Given the description of an element on the screen output the (x, y) to click on. 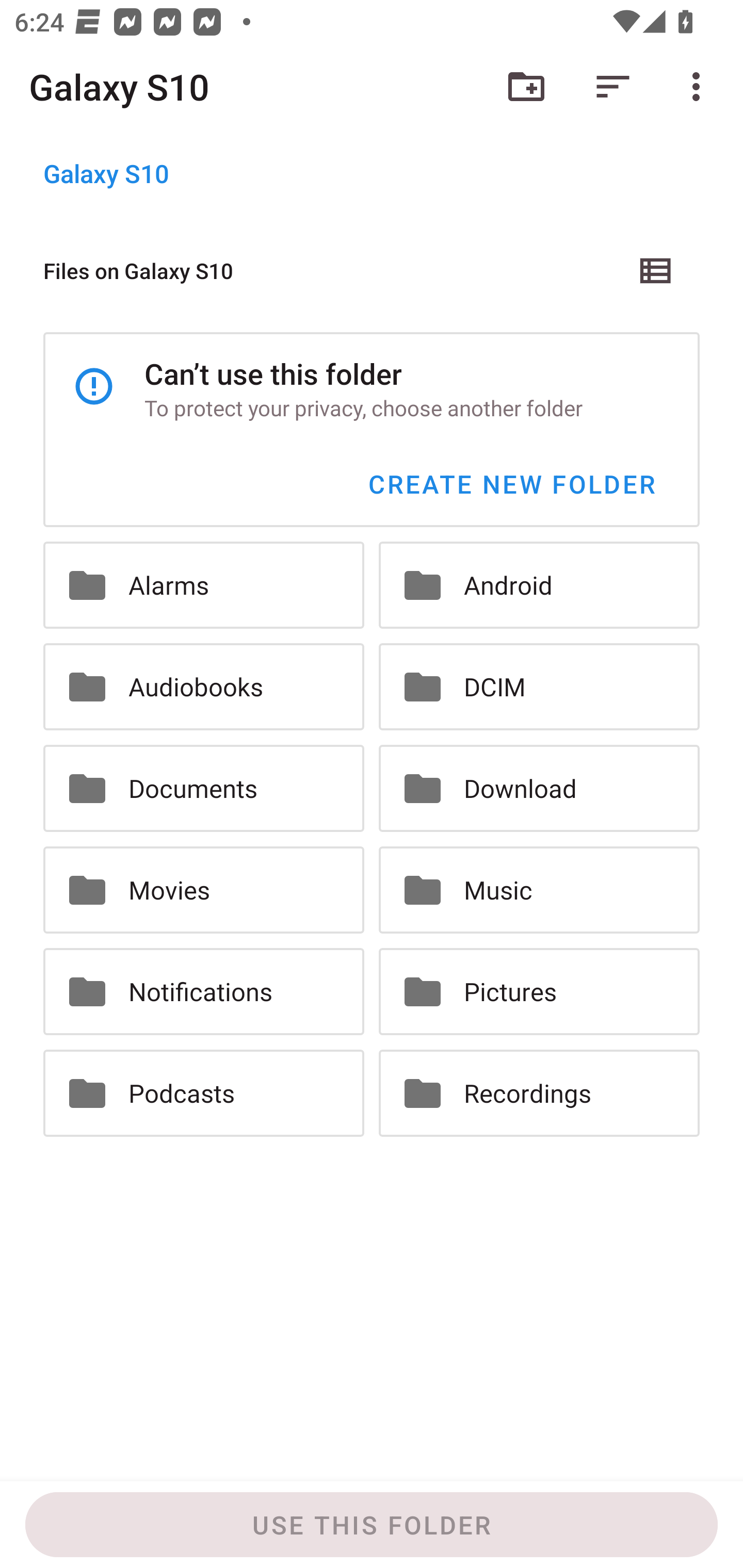
New folder (525, 86)
Sort by... (612, 86)
More options (699, 86)
List view (655, 270)
CREATE NEW FOLDER (511, 483)
Alarms (203, 584)
Android (538, 584)
Audiobooks (203, 686)
DCIM (538, 686)
Documents (203, 788)
Download (538, 788)
Movies (203, 889)
Music (538, 889)
Notifications (203, 991)
Pictures (538, 991)
Podcasts (203, 1092)
Recordings (538, 1092)
USE THIS FOLDER (371, 1524)
